Given the description of an element on the screen output the (x, y) to click on. 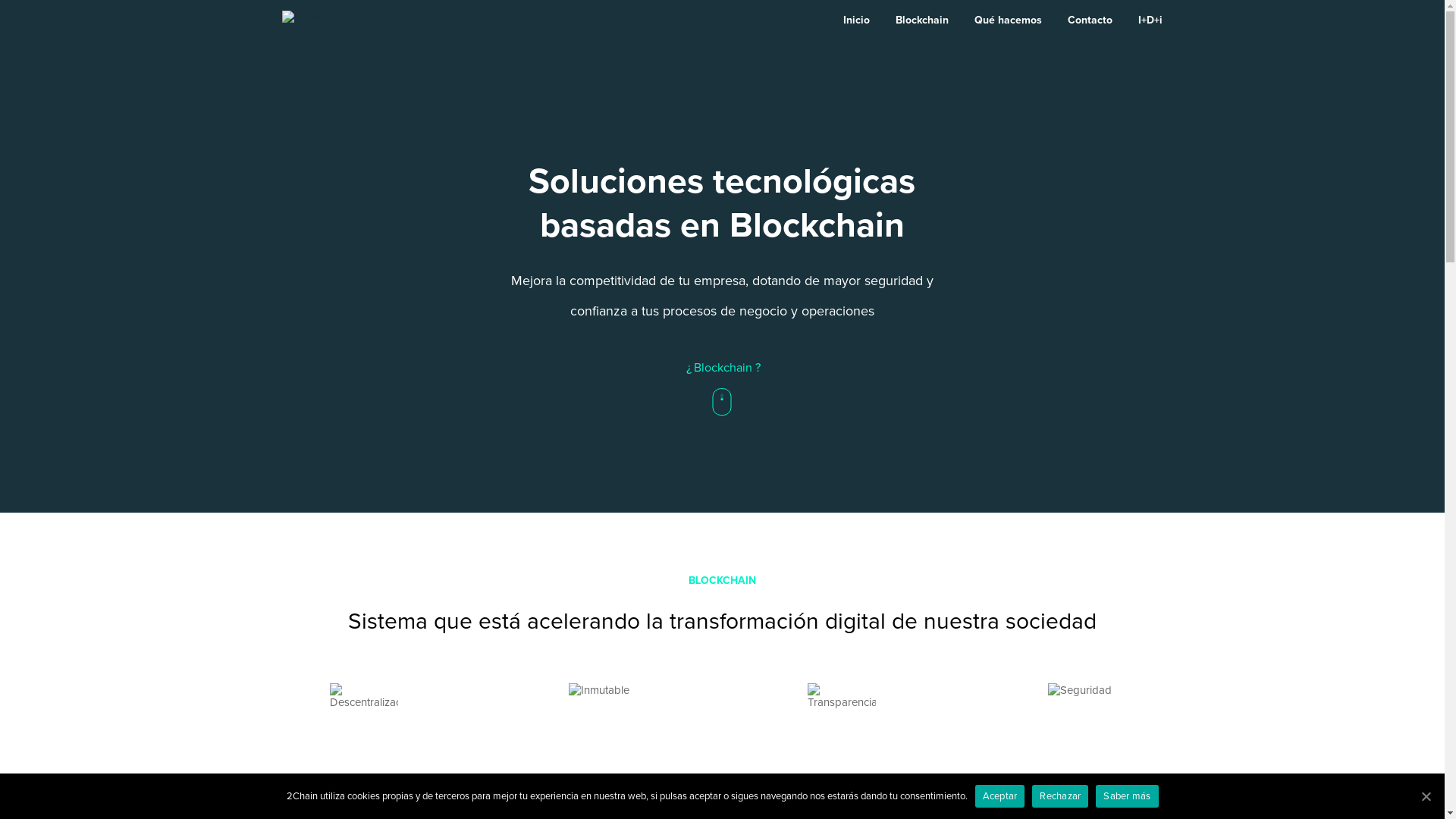
Transparencia Element type: hover (841, 717)
Rechazar Element type: text (1060, 795)
Contacto Element type: text (1089, 20)
Blockchain Element type: text (921, 20)
Home Element type: text (322, 19)
Inicio Element type: text (856, 20)
I+D+i Element type: text (1150, 20)
Aceptar Element type: text (1000, 795)
Seguridad Element type: hover (1080, 718)
Inmutable Element type: hover (602, 717)
